Given the description of an element on the screen output the (x, y) to click on. 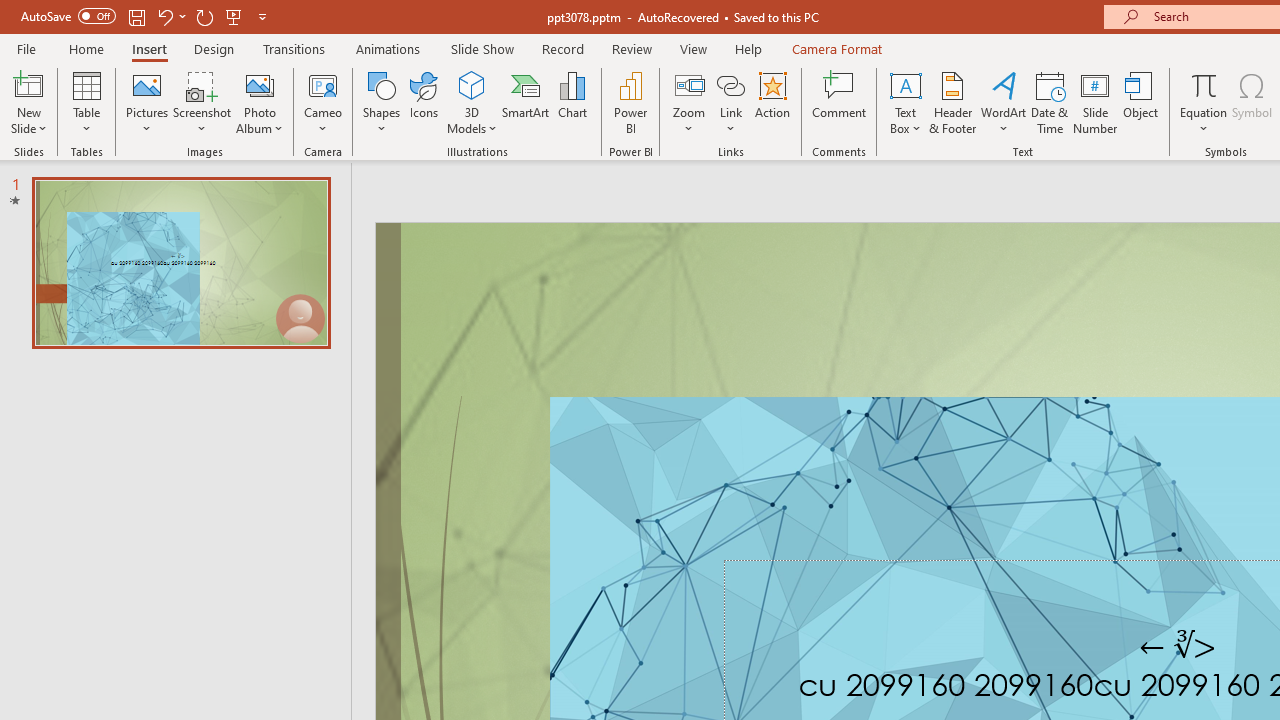
Chart... (572, 102)
Equation (1203, 84)
Camera Format (836, 48)
Symbol... (1252, 102)
Photo Album... (259, 102)
